Given the description of an element on the screen output the (x, y) to click on. 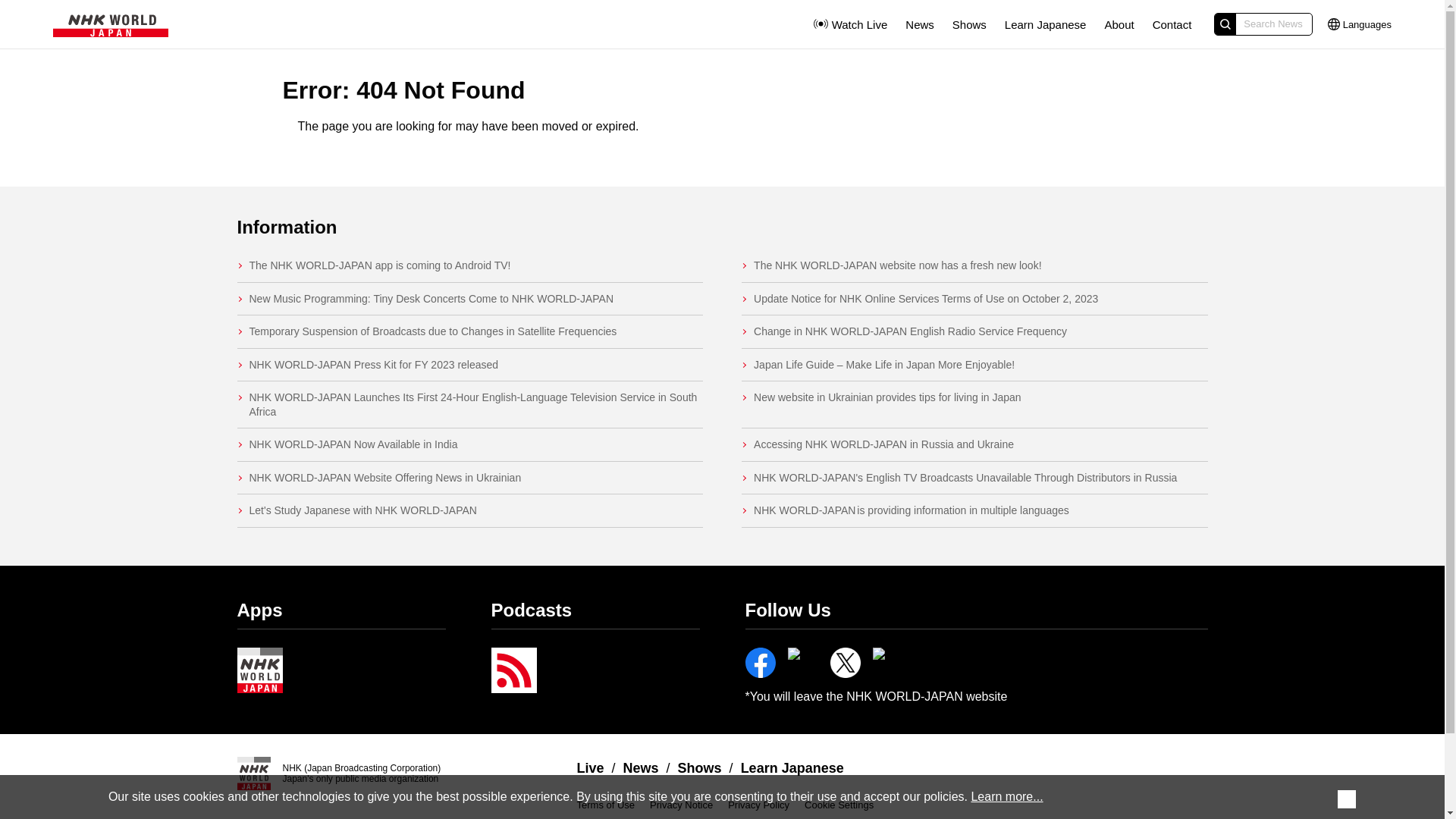
Search News (1262, 24)
News (919, 24)
Languages (1359, 24)
About (1118, 24)
Learn Japanese (1045, 24)
Contact (1172, 24)
Watch Live (848, 24)
Shows (969, 24)
